Given the description of an element on the screen output the (x, y) to click on. 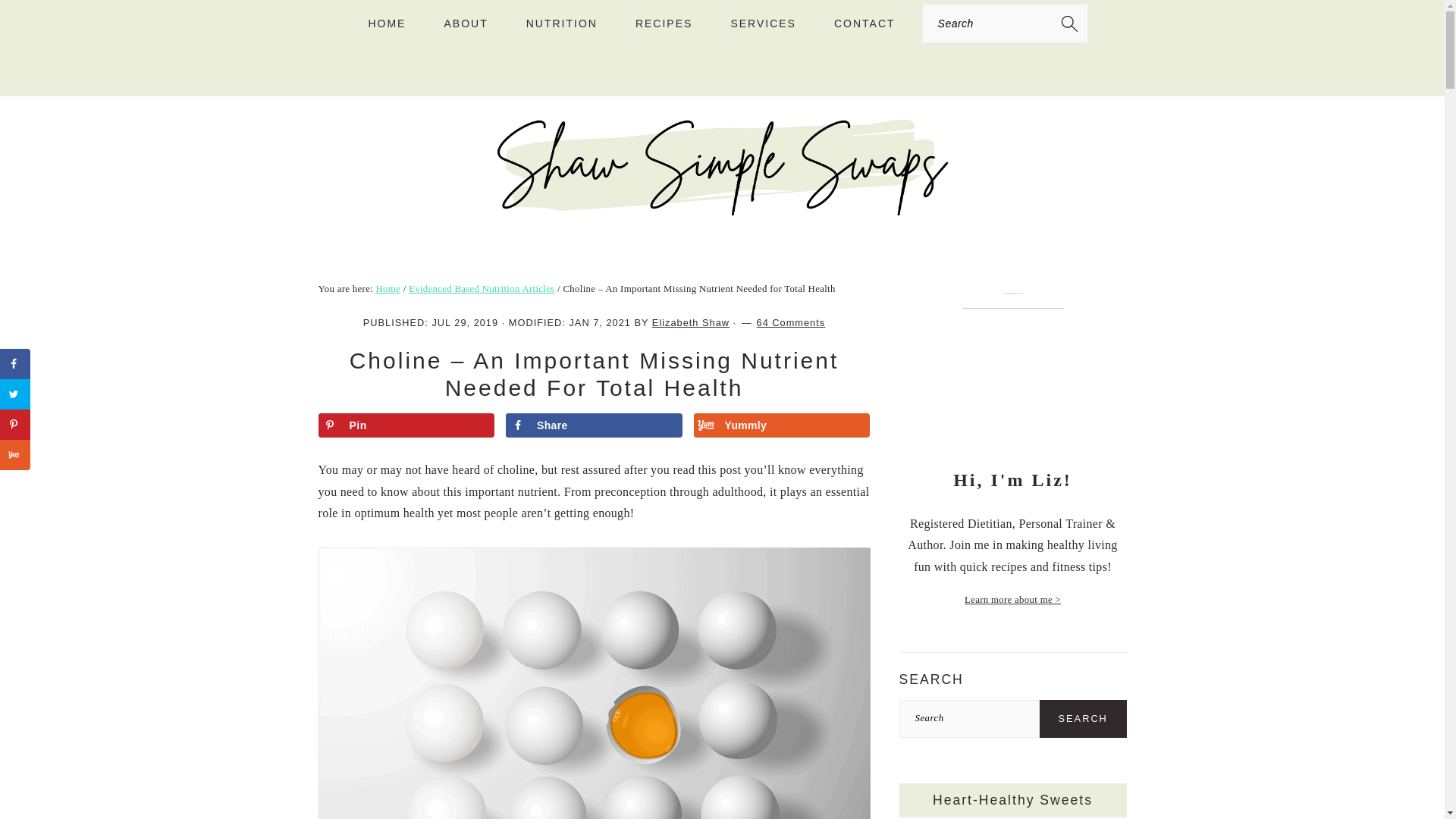
RECIPES (663, 23)
NUTRITION (560, 23)
ABOUT (465, 23)
Shaw Simple Swaps (722, 213)
Search (275, 19)
Search (1082, 718)
SERVICES (763, 23)
CONTACT (864, 23)
Shaw Simple Swaps (722, 166)
